Given the description of an element on the screen output the (x, y) to click on. 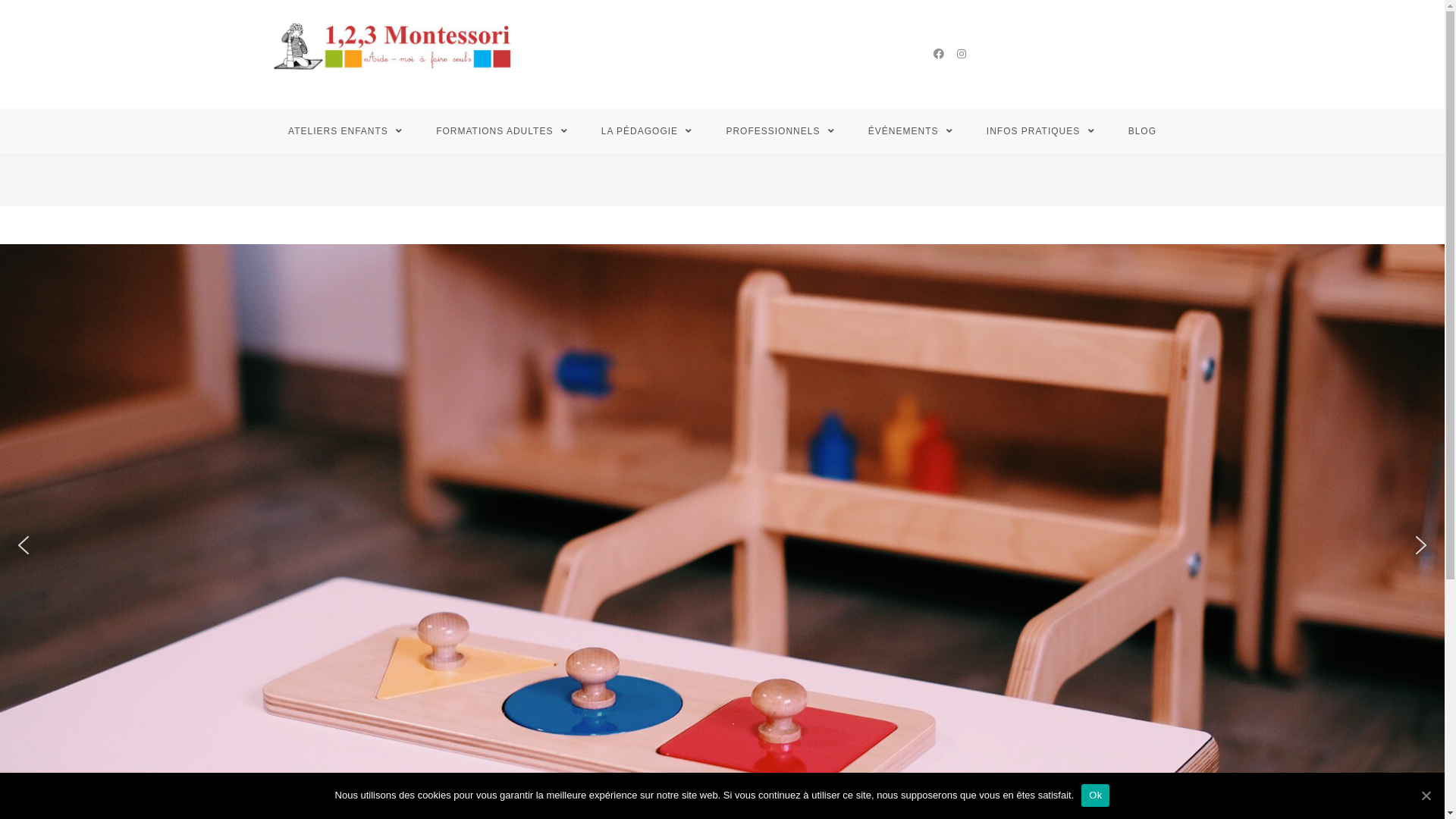
ATELIERS ENFANTS Element type: text (345, 130)
PROFESSIONNELS Element type: text (779, 130)
FORMATIONS ADULTES Element type: text (501, 130)
INFOS PRATIQUES Element type: text (1040, 130)
Ok Element type: text (1095, 795)
BLOG Element type: text (1142, 130)
